Given the description of an element on the screen output the (x, y) to click on. 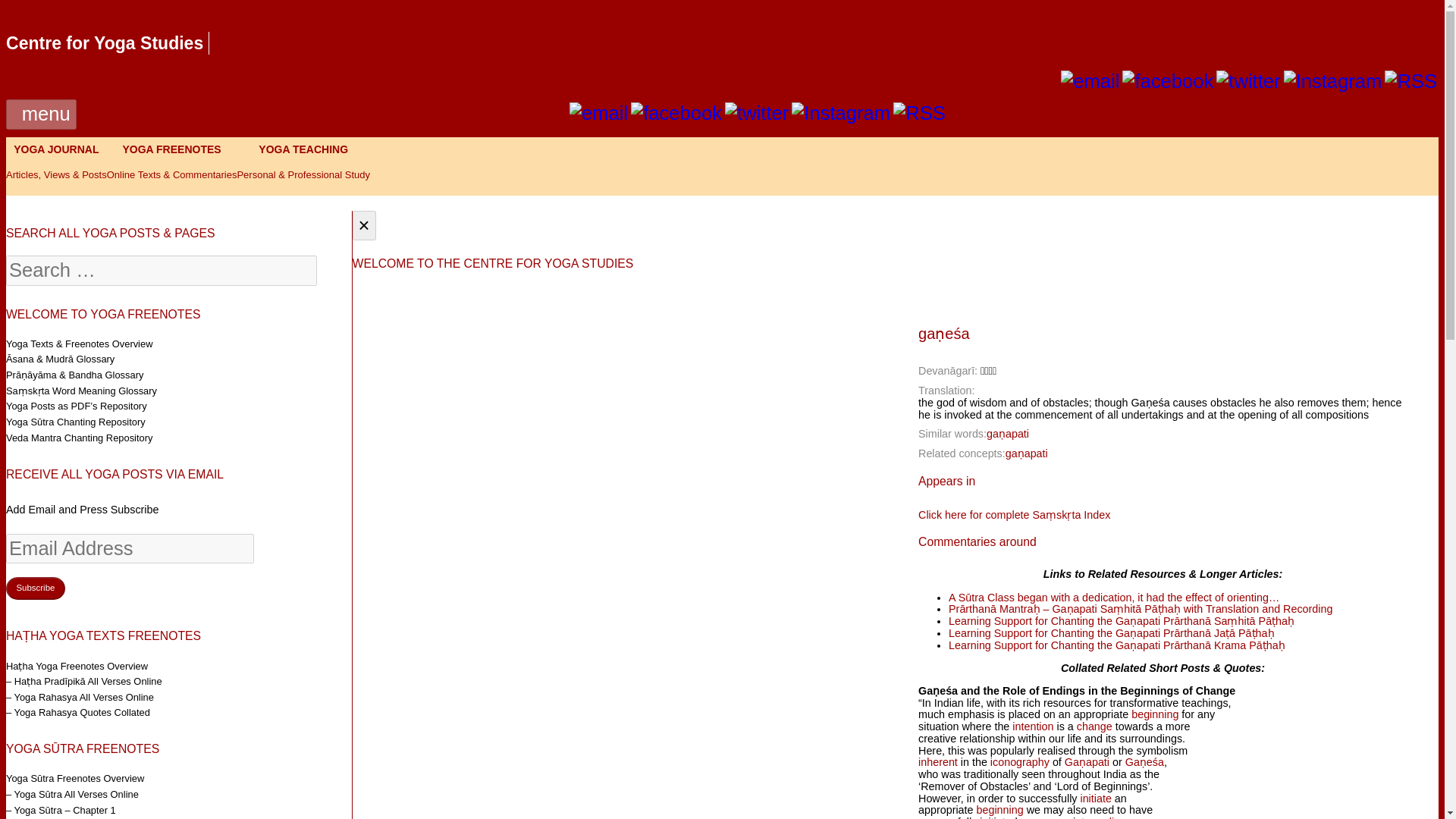
twitter (1247, 81)
Centre for Yoga Studies (104, 43)
email (598, 113)
email (597, 112)
Subscribe (35, 588)
twitter (1247, 80)
Instagram (1332, 81)
facebook (1167, 81)
menu (41, 113)
Veda Mantra Chanting Repository (78, 437)
